Given the description of an element on the screen output the (x, y) to click on. 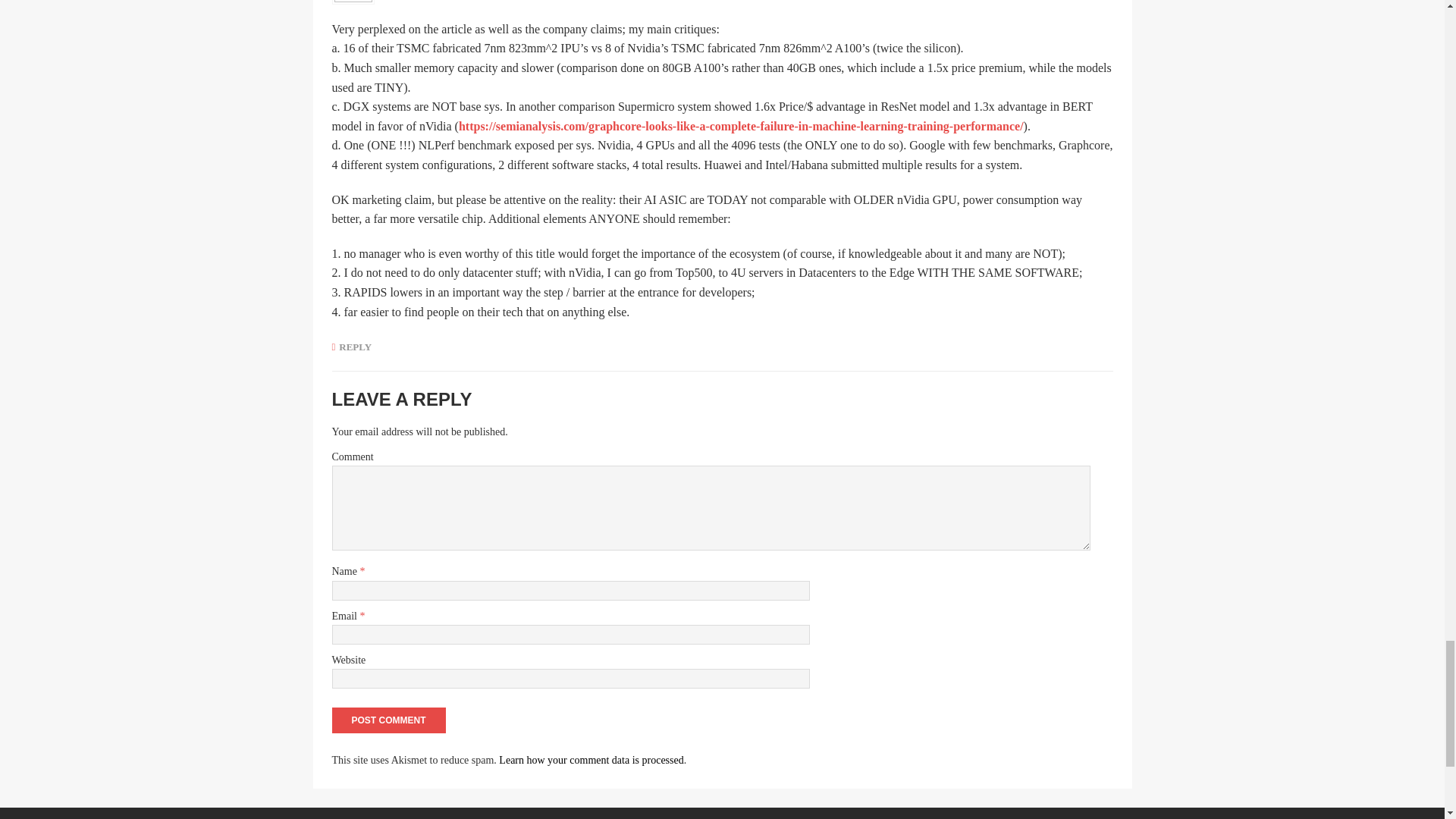
Post Comment (388, 720)
